Given the description of an element on the screen output the (x, y) to click on. 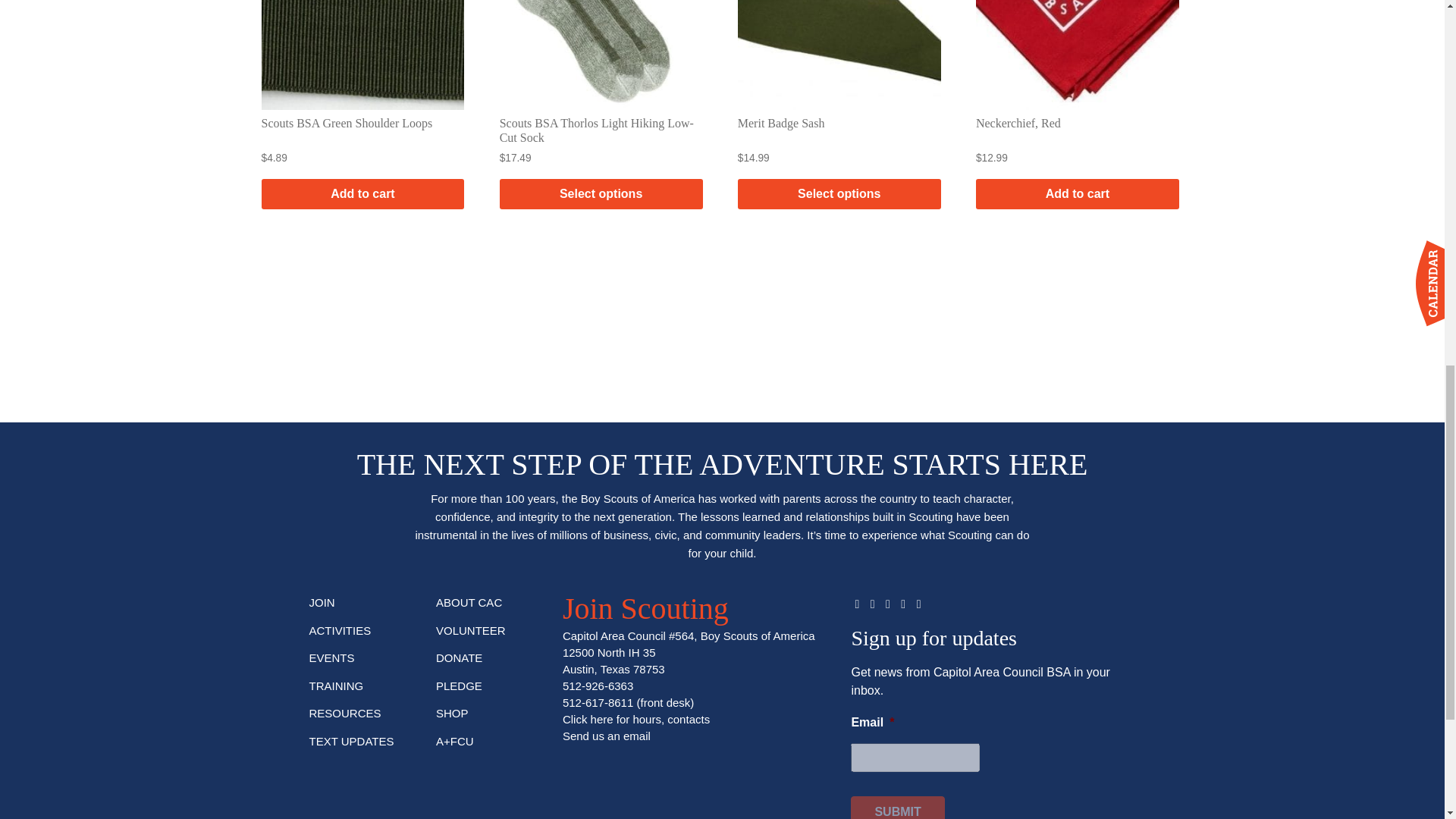
Submit (896, 807)
